Given the description of an element on the screen output the (x, y) to click on. 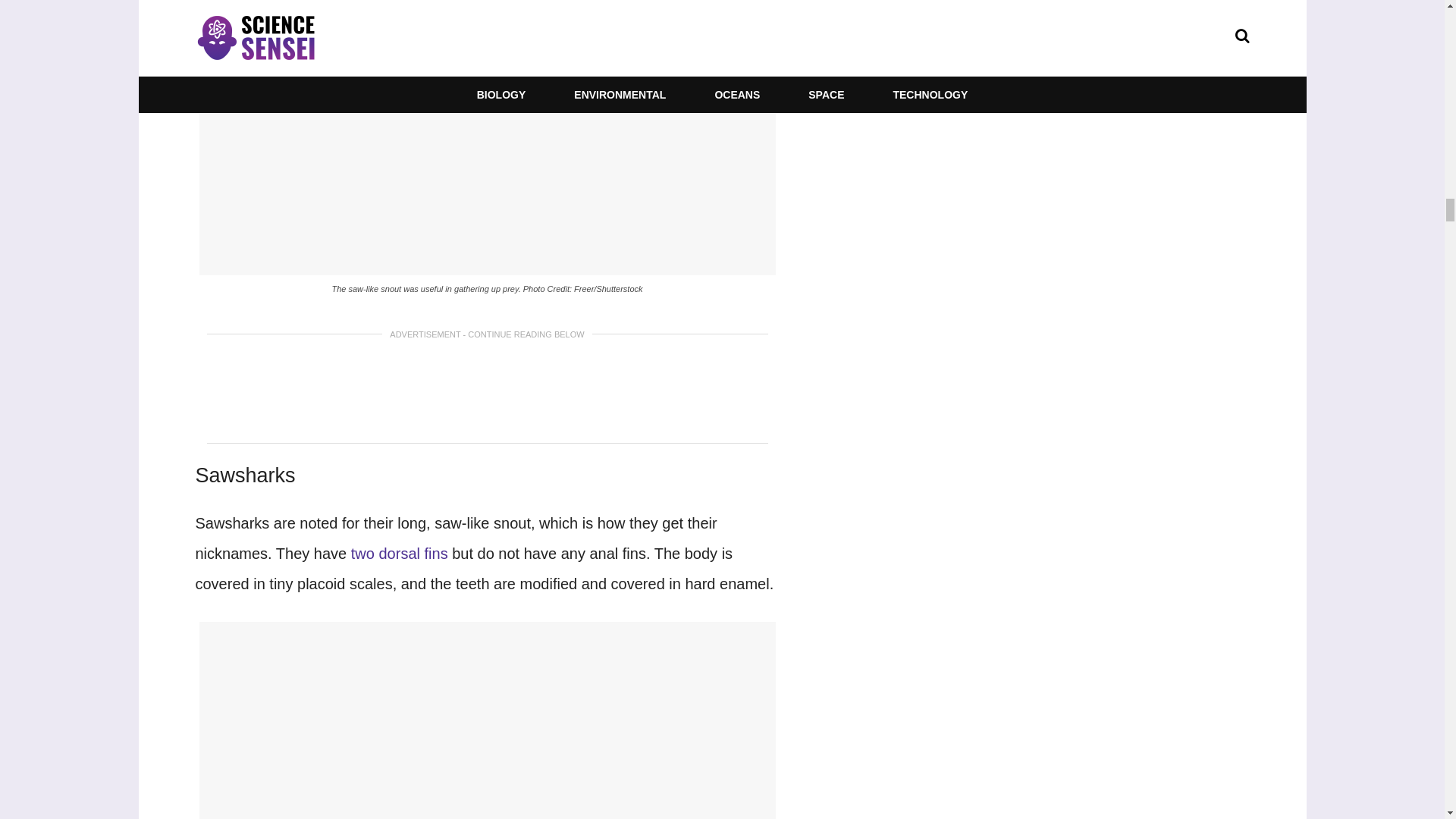
two dorsal fins (399, 553)
